Given the description of an element on the screen output the (x, y) to click on. 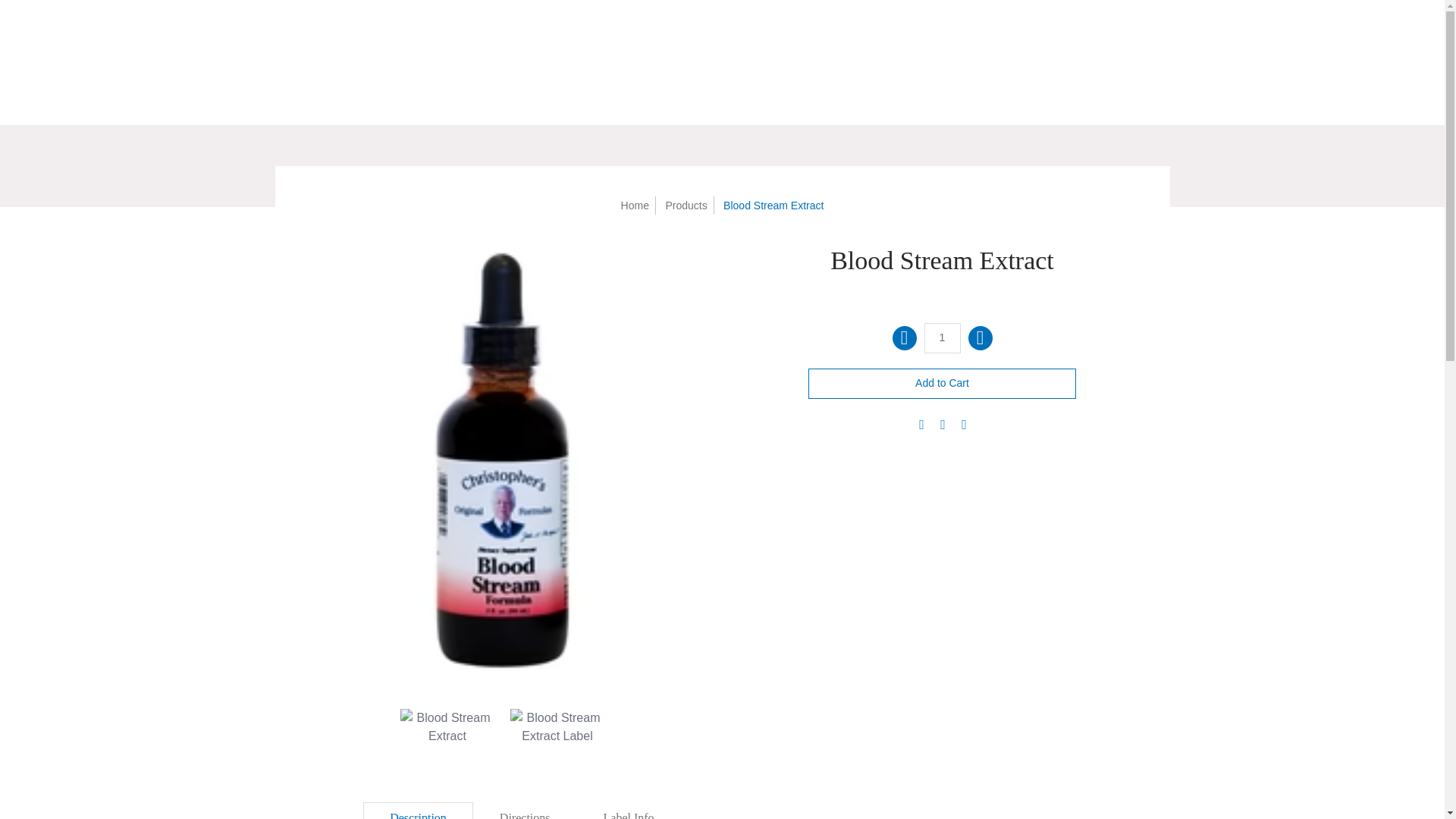
1 (941, 337)
Add to Cart (941, 383)
Home (635, 205)
Products (685, 205)
